Given the description of an element on the screen output the (x, y) to click on. 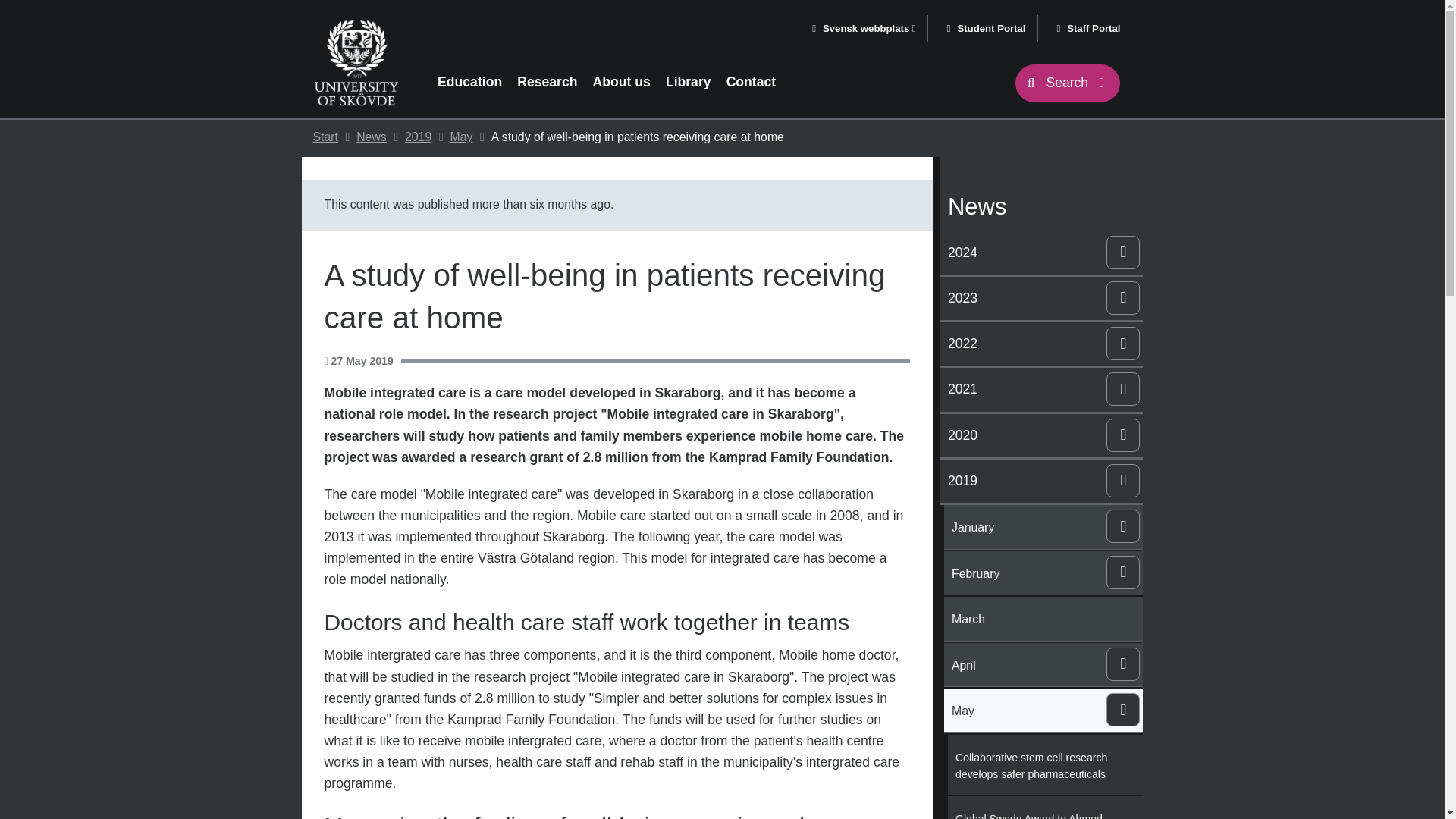
2019 (417, 136)
About us (622, 81)
Svensk webbplats (863, 28)
2024 (1023, 248)
Library (688, 81)
Staff Portal (1088, 28)
Search (1067, 83)
May (460, 136)
News (371, 136)
Contact (751, 81)
Student Portal (986, 28)
Research (547, 81)
Start (325, 136)
Education (469, 81)
